Given the description of an element on the screen output the (x, y) to click on. 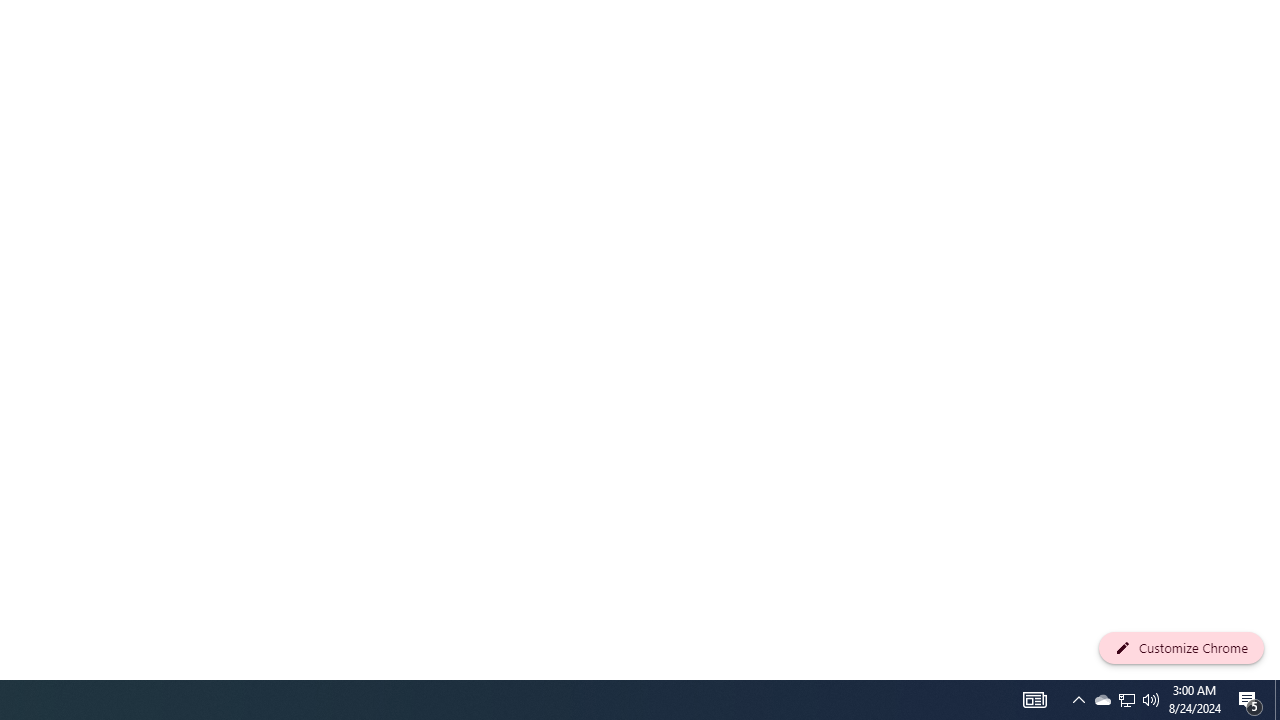
Customize Chrome (1181, 647)
